Given the description of an element on the screen output the (x, y) to click on. 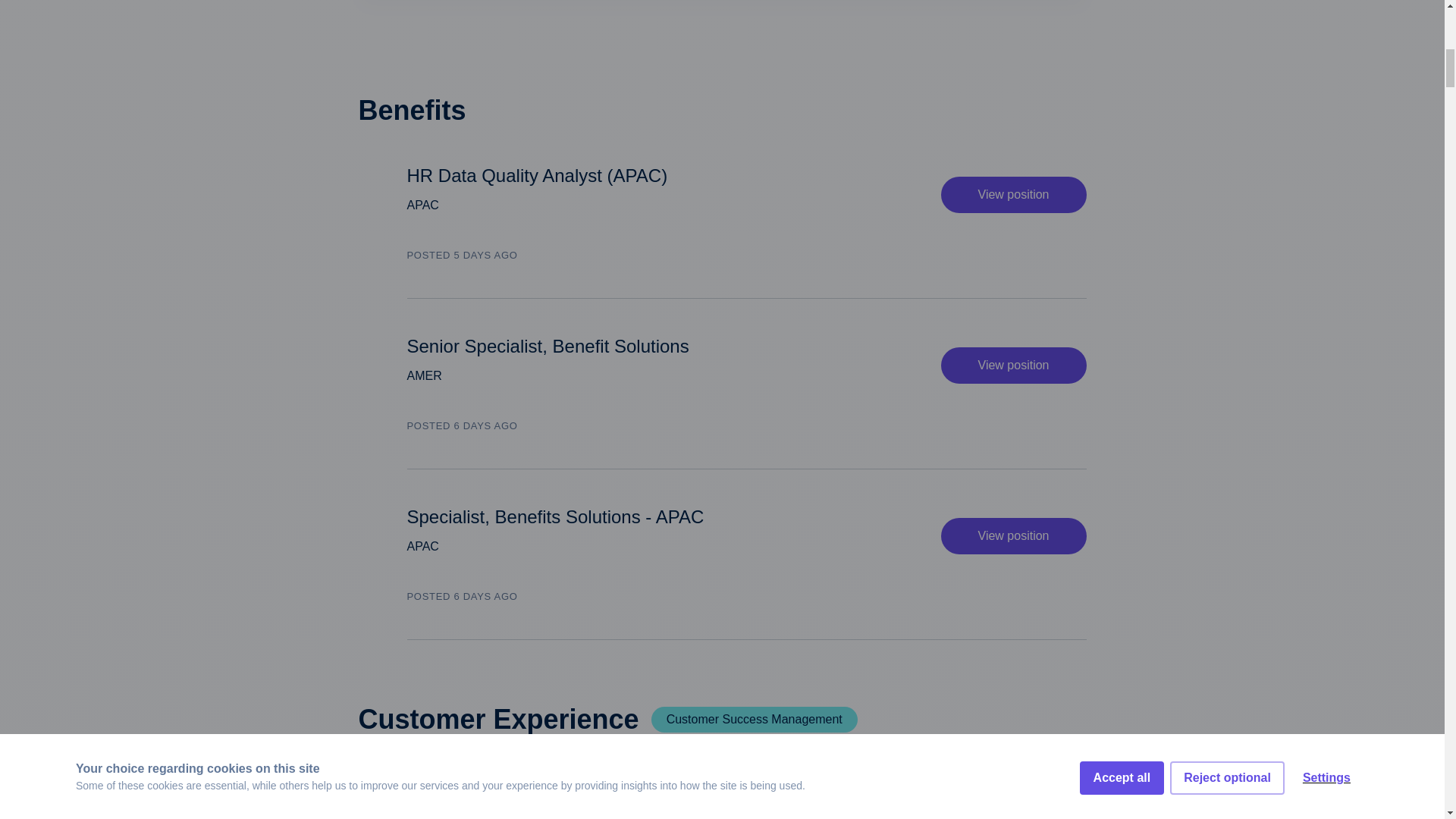
Settings (1326, 4)
Reject optional (1227, 12)
Accept all (1122, 24)
